Given the description of an element on the screen output the (x, y) to click on. 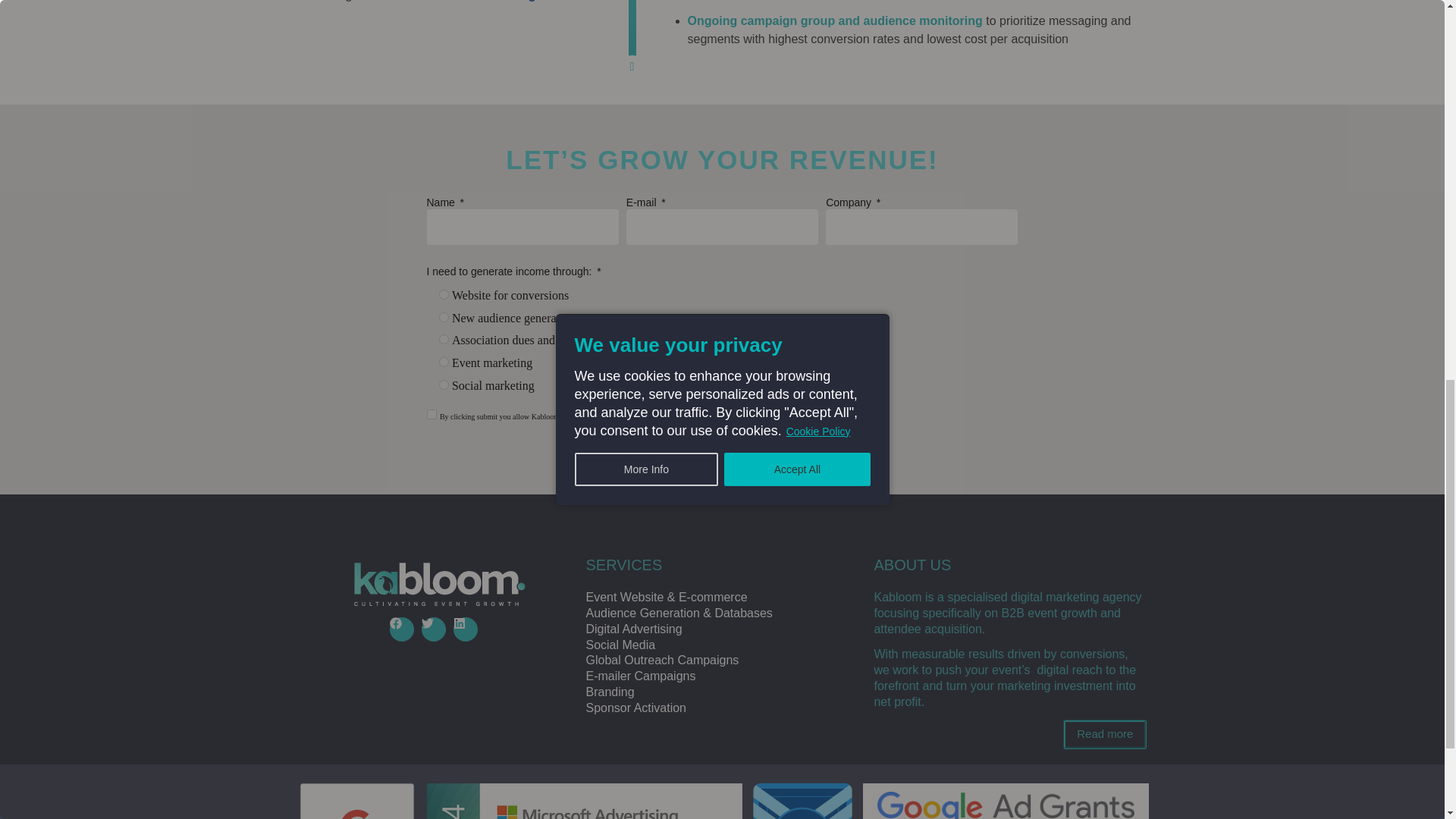
Website for conversions (443, 294)
Association dues and non-dues activation (443, 338)
Social marketing (443, 384)
on (430, 414)
New audience generation (443, 317)
Event marketing (443, 361)
